Given the description of an element on the screen output the (x, y) to click on. 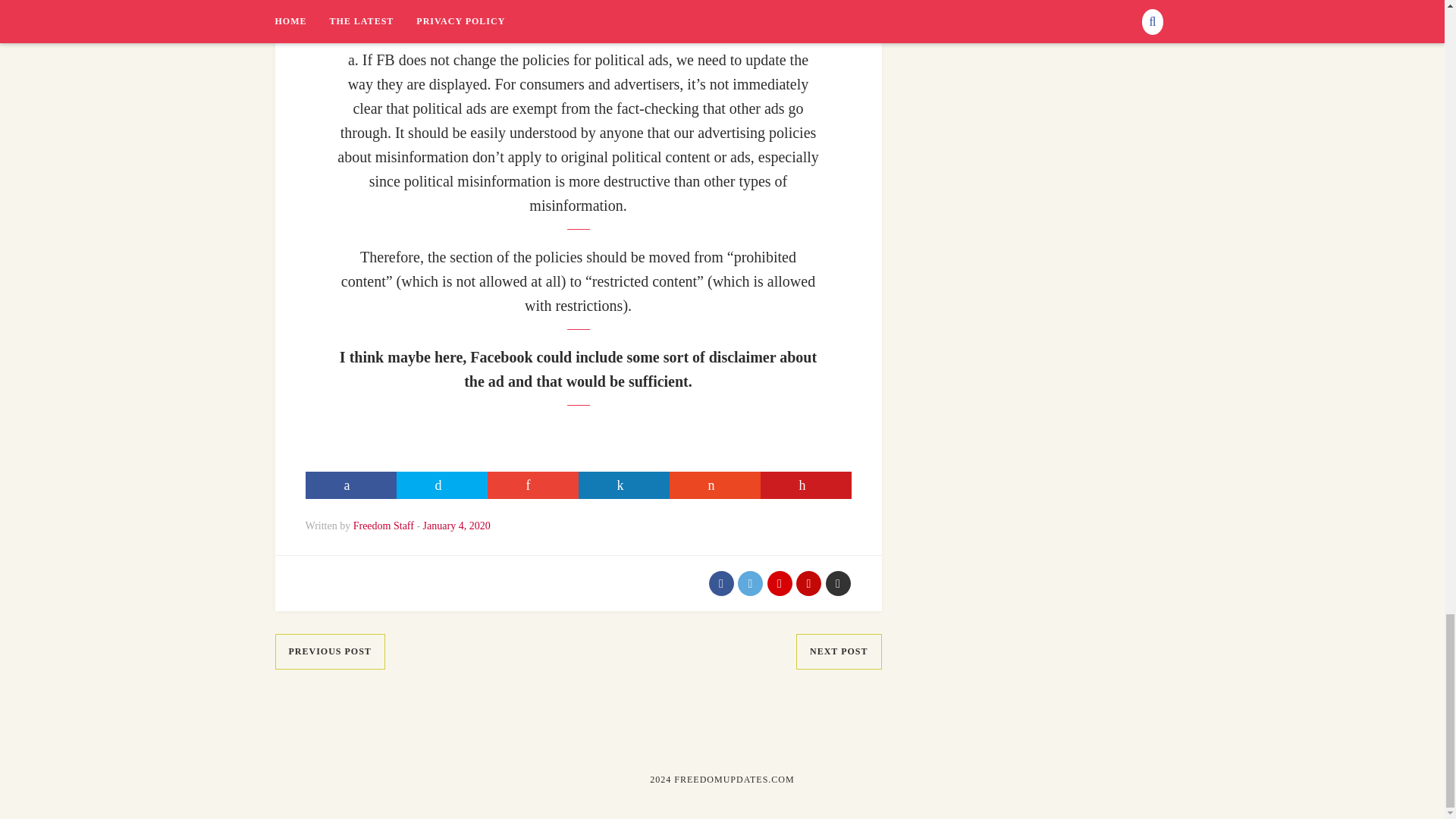
NEXT POST (838, 651)
PREVIOUS POST (329, 651)
